Given the description of an element on the screen output the (x, y) to click on. 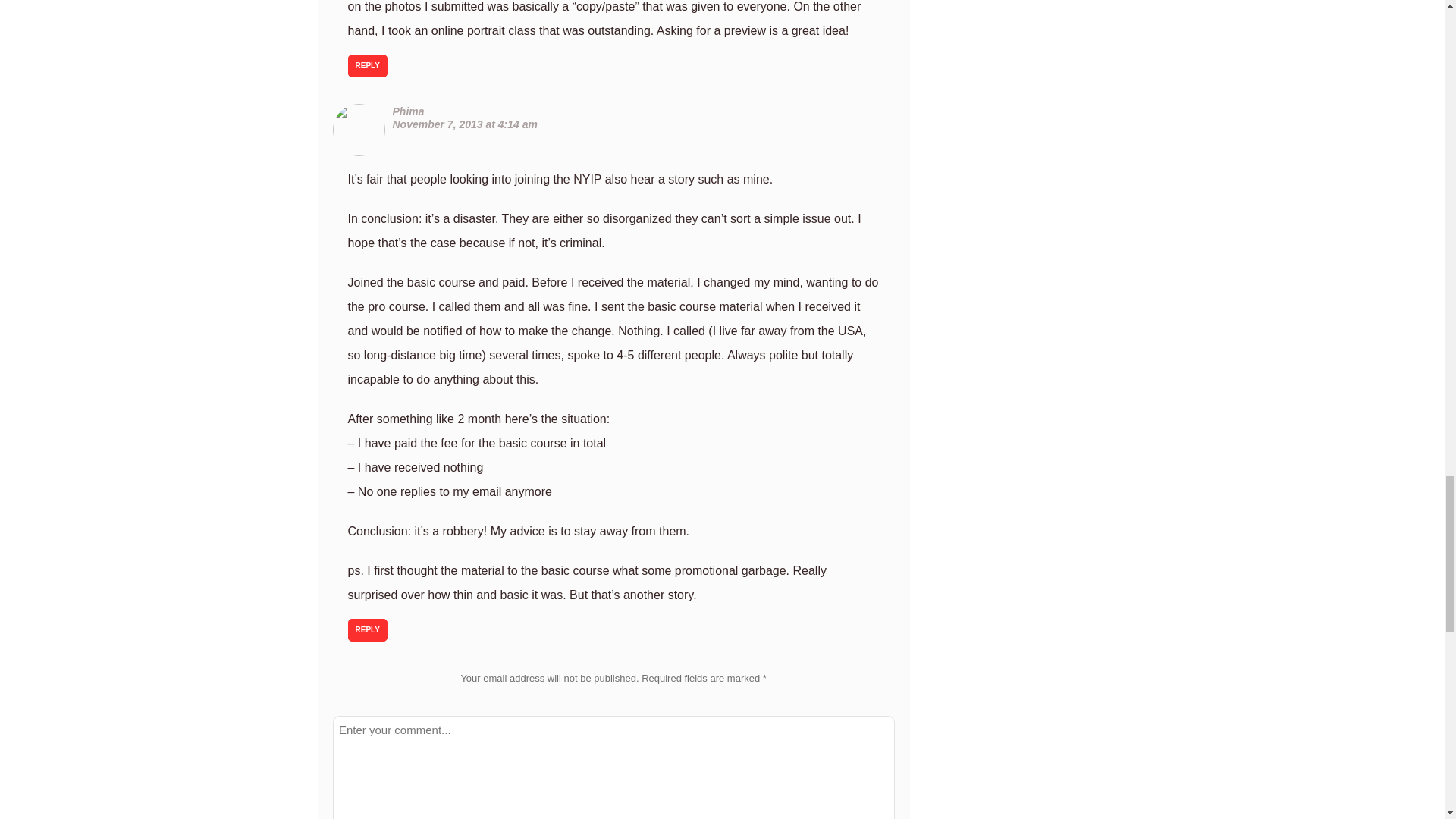
REPLY (367, 65)
November 7, 2013 at 4:14 am (465, 123)
REPLY (367, 630)
